Given the description of an element on the screen output the (x, y) to click on. 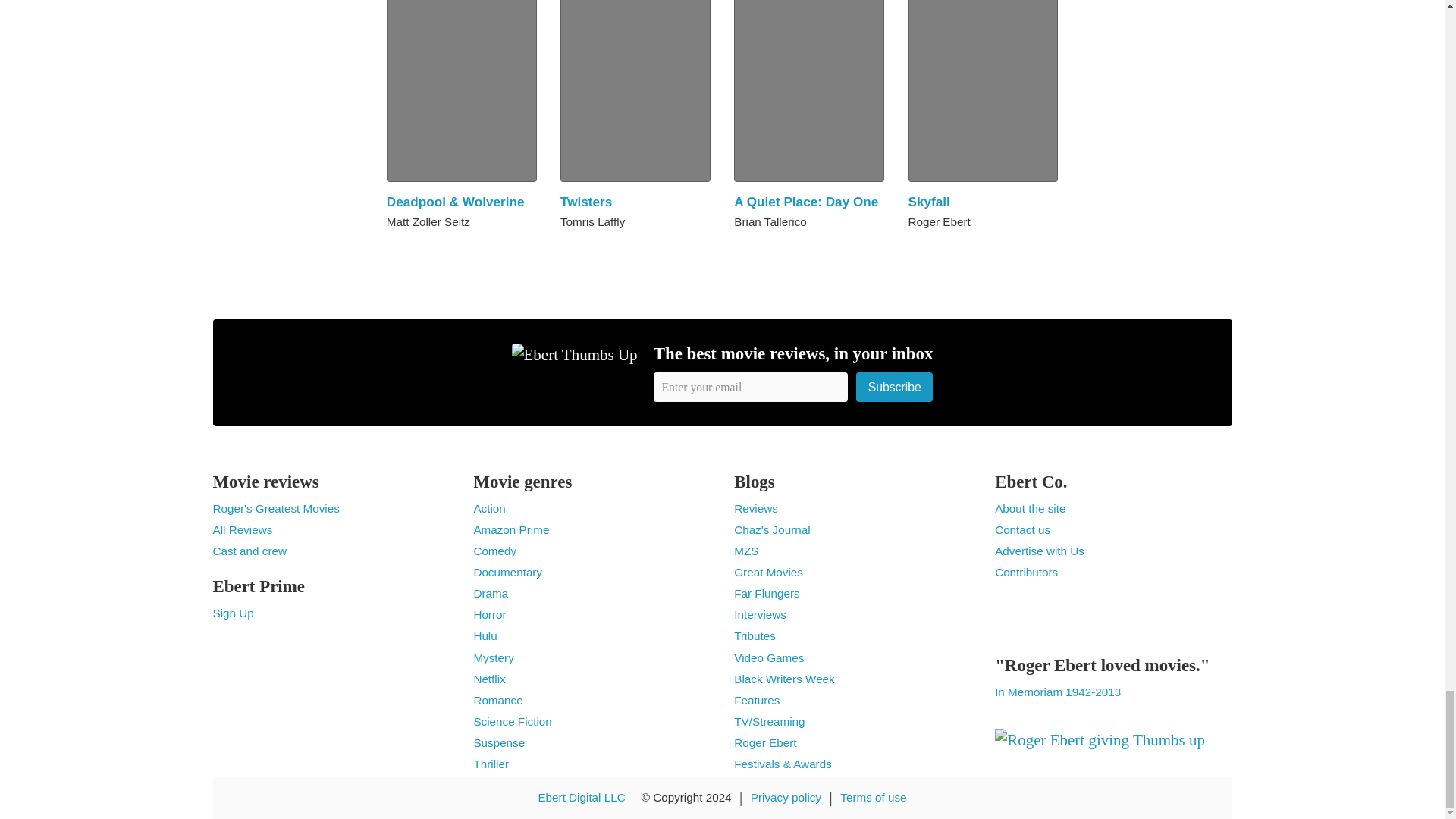
Subscribe (894, 387)
